Given the description of an element on the screen output the (x, y) to click on. 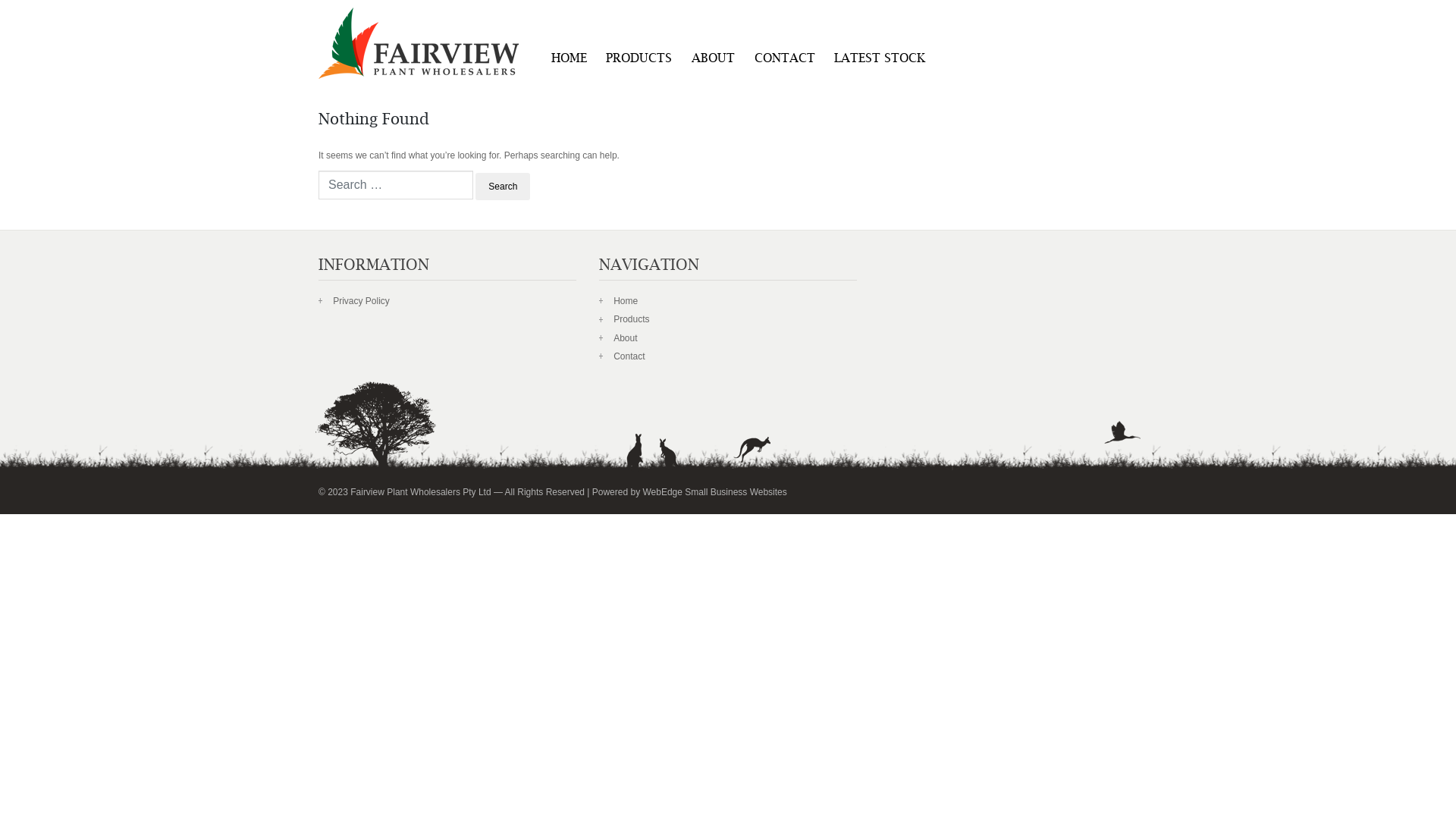
Small Business Websites Element type: text (735, 491)
HOME Element type: text (568, 59)
Search Element type: text (502, 186)
Contact Element type: text (628, 356)
Home Element type: text (625, 300)
LATEST STOCK Element type: text (879, 59)
Search for: Element type: hover (395, 184)
ABOUT Element type: text (712, 59)
About Element type: text (625, 337)
Privacy Policy Element type: text (360, 300)
PRODUCTS Element type: text (639, 59)
CONTACT Element type: text (784, 59)
Products Element type: text (631, 318)
